Given the description of an element on the screen output the (x, y) to click on. 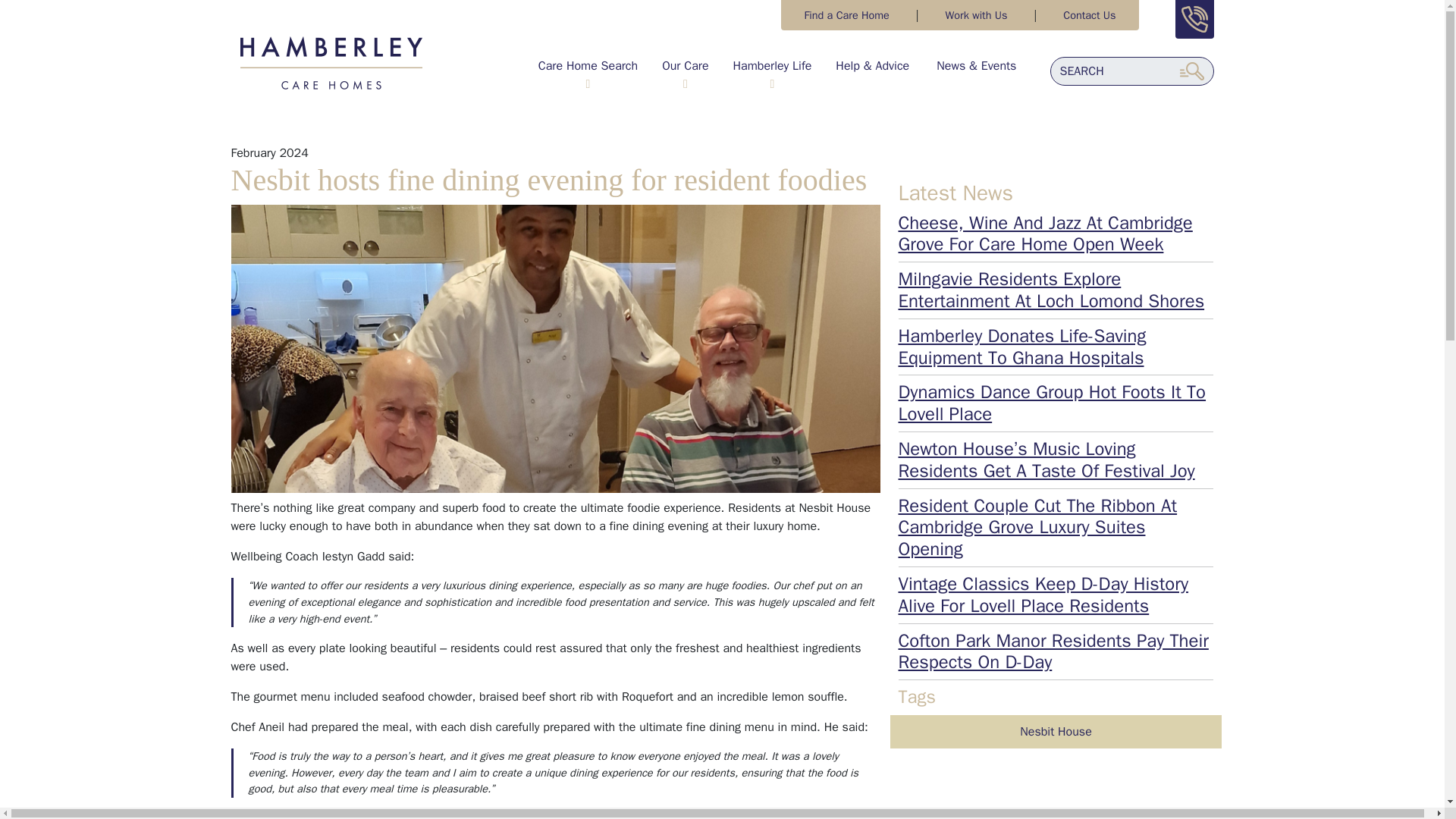
Phone (1194, 18)
Our Care (685, 71)
search (1191, 71)
Find a Care Home (845, 15)
Nesbit House (1055, 731)
logo (331, 62)
Work with Us (975, 15)
Care Home Search (587, 71)
Contact Us (1088, 15)
Opens a widget where you can chat to one of our agents (1387, 781)
Hamberley Life (771, 71)
